Given the description of an element on the screen output the (x, y) to click on. 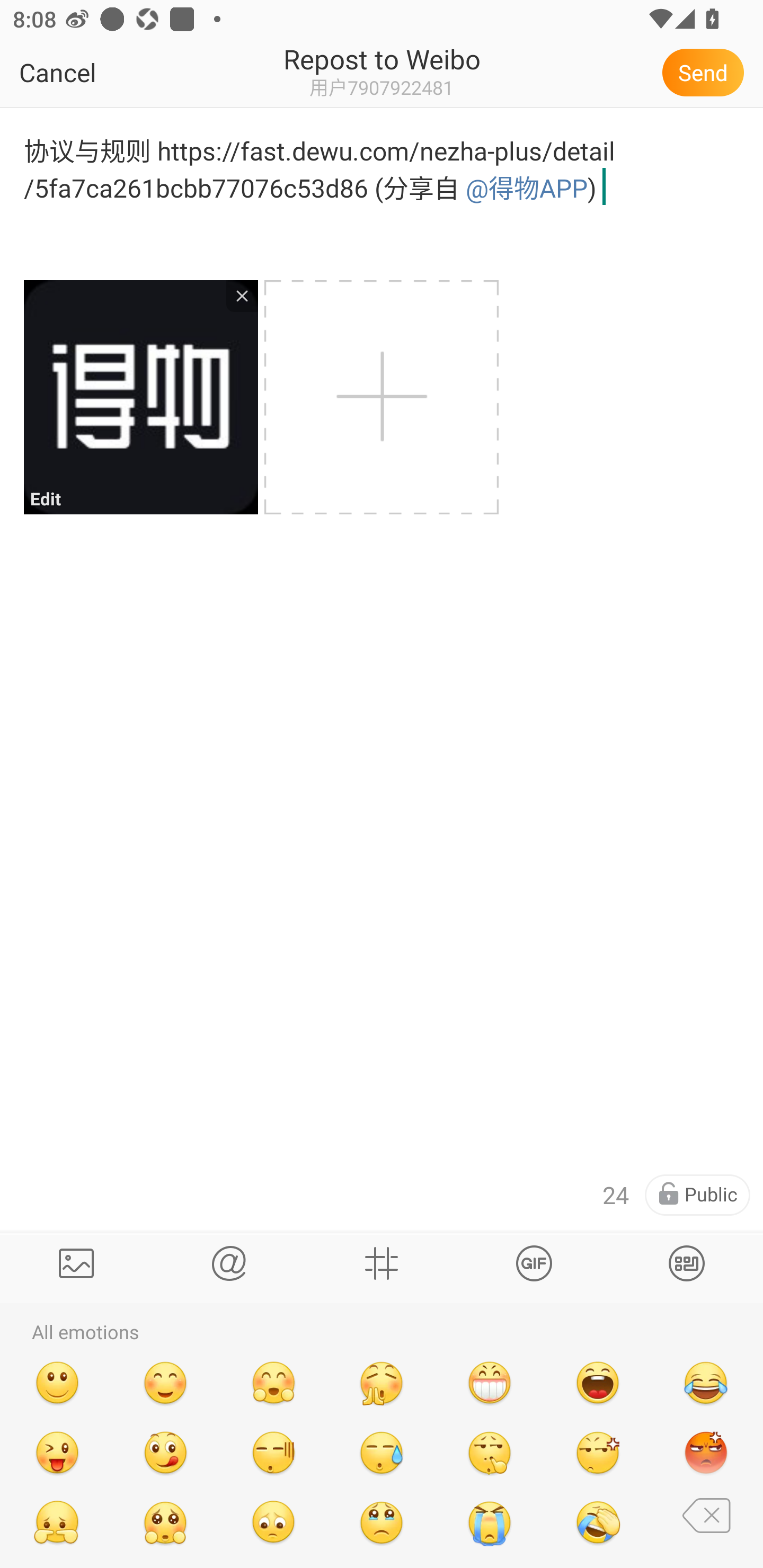
Cancel (99, 71)
Send (706, 71)
Edit (140, 397)
Meyou Public (697, 1194)
24 Number of words available: (615, 1194)
Pictures Upload (76, 1262)
Search (228, 1262)
Topics, movies, books, songs, places, stocks (381, 1262)
Topics, movies, books, songs, places, stocks (533, 1262)
请插入表情 (686, 1262)
微笑 (57, 1382)
可爱 (164, 1382)
太开心 (273, 1382)
鼓掌 (381, 1382)
嘻嘻 (489, 1382)
哈哈 (597, 1382)
笑cry (705, 1382)
挤眼 (57, 1452)
馋嘴 (164, 1452)
黑线 (273, 1452)
汗 (381, 1452)
挖鼻 (489, 1452)
哼 (597, 1452)
怒 (705, 1452)
委屈 (57, 1522)
可怜 (164, 1522)
失望 (273, 1522)
悲伤 (381, 1522)
泪 (489, 1522)
允悲 (597, 1522)
苦涩 (705, 1522)
